Given the description of an element on the screen output the (x, y) to click on. 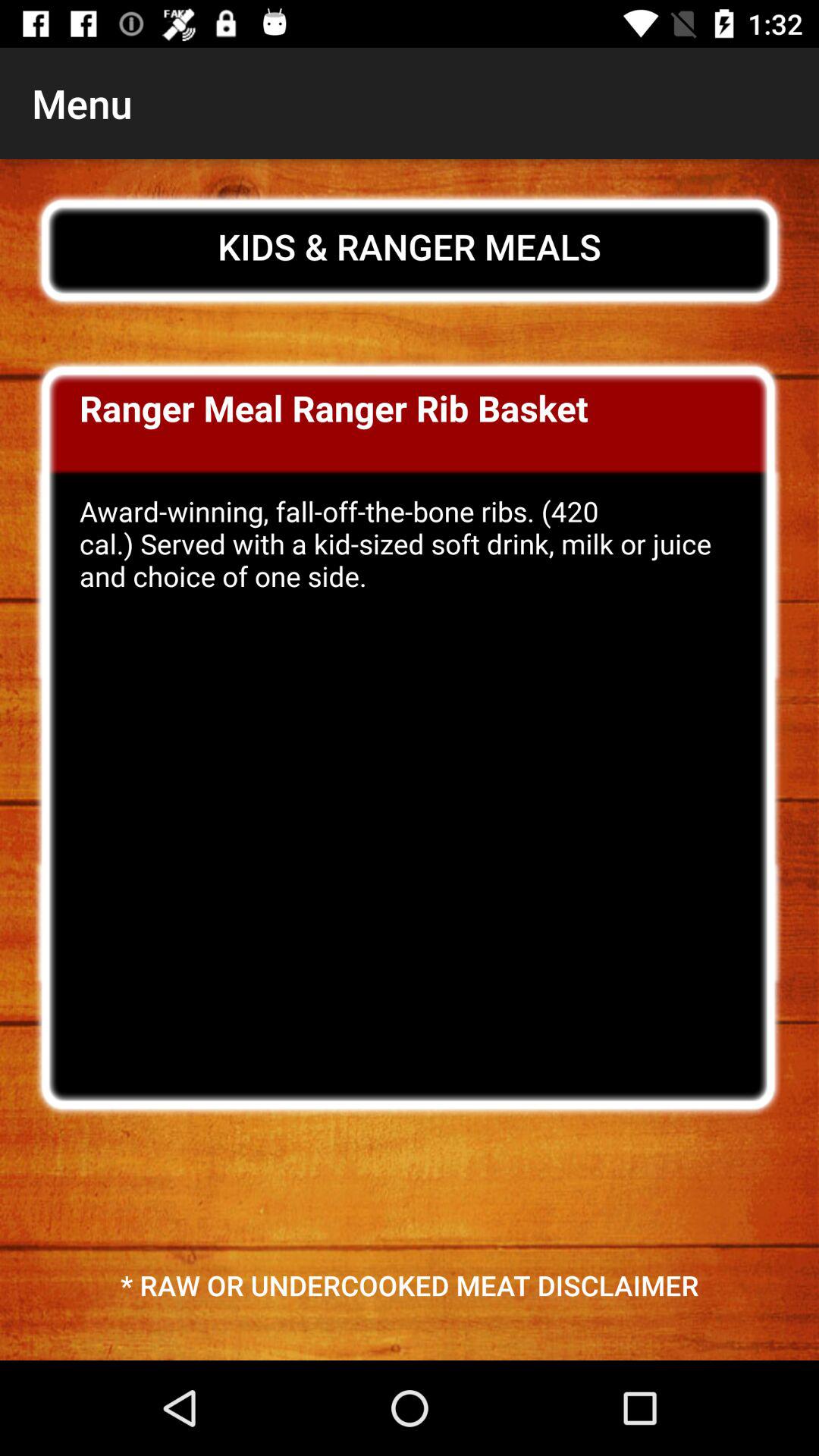
click the app above the ranger meal ranger (409, 246)
